Given the description of an element on the screen output the (x, y) to click on. 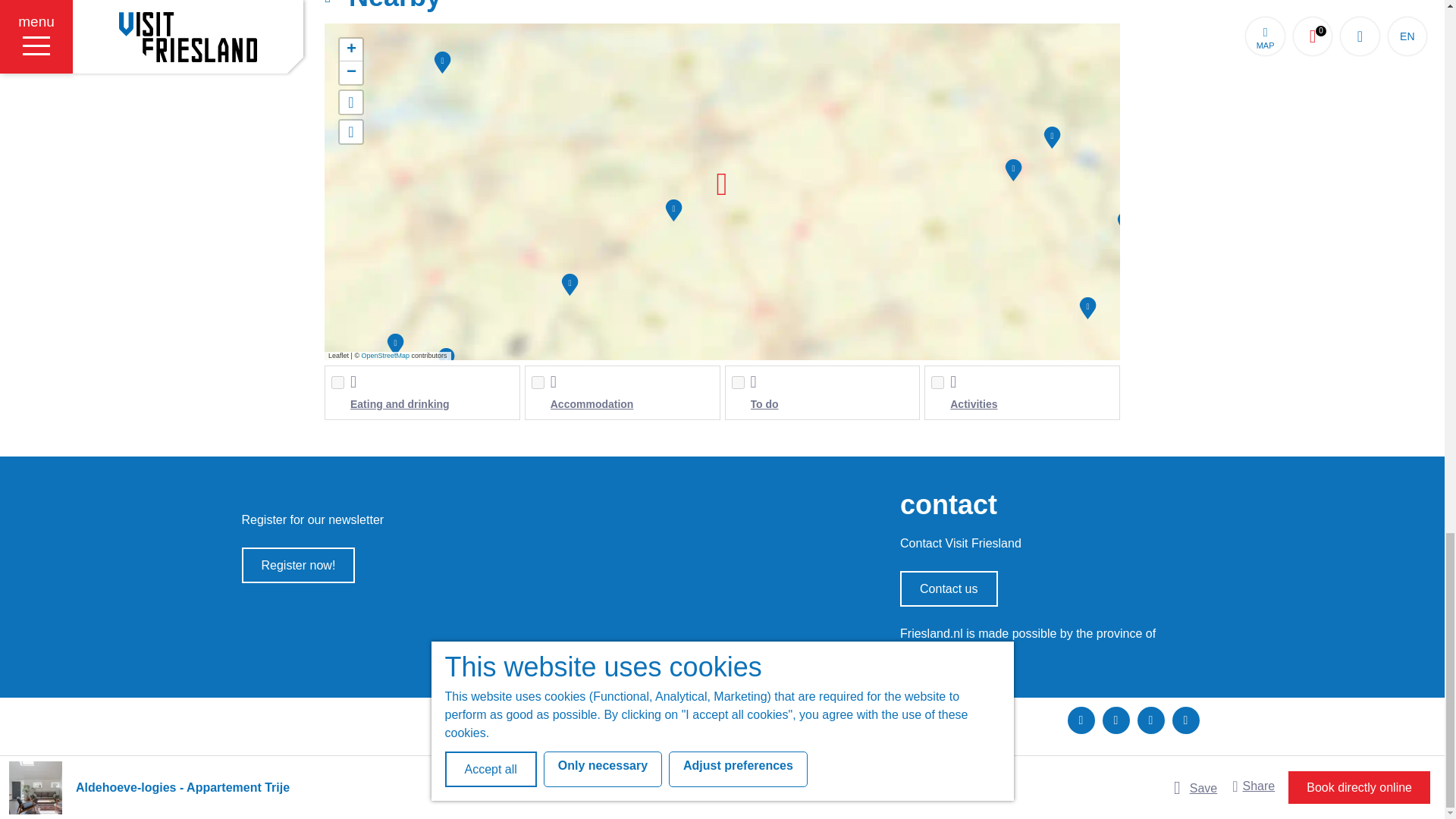
20100,20200,20400,40300 (937, 382)
10700,11100,10900,10400,10800 (737, 382)
